Given the description of an element on the screen output the (x, y) to click on. 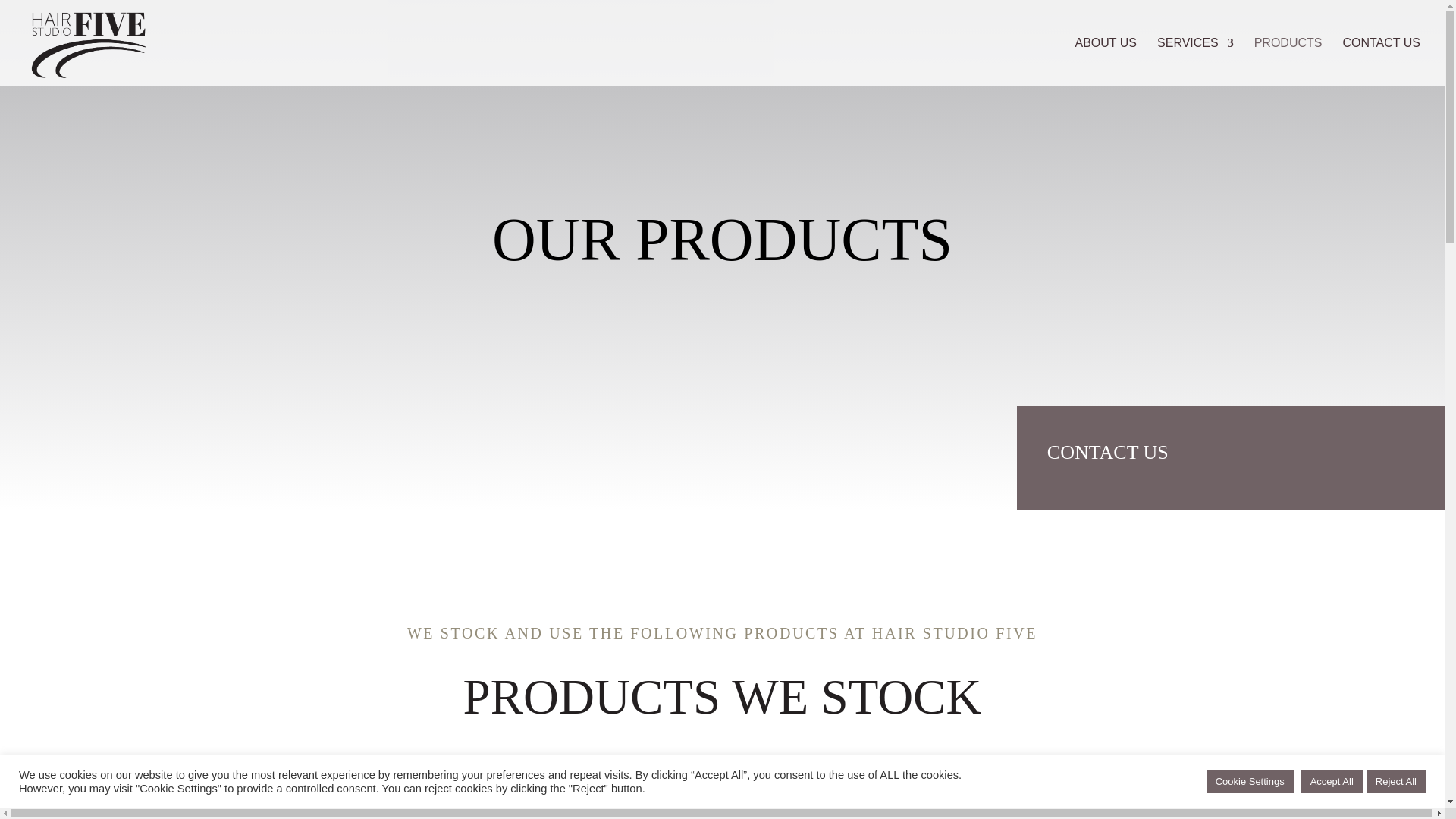
PRODUCTS (1287, 61)
CONTACT US (1381, 61)
SERVICES (1195, 61)
Cookie Settings (1250, 781)
Accept All (1331, 781)
Reject All (1396, 781)
ABOUT US (1106, 61)
